Given the description of an element on the screen output the (x, y) to click on. 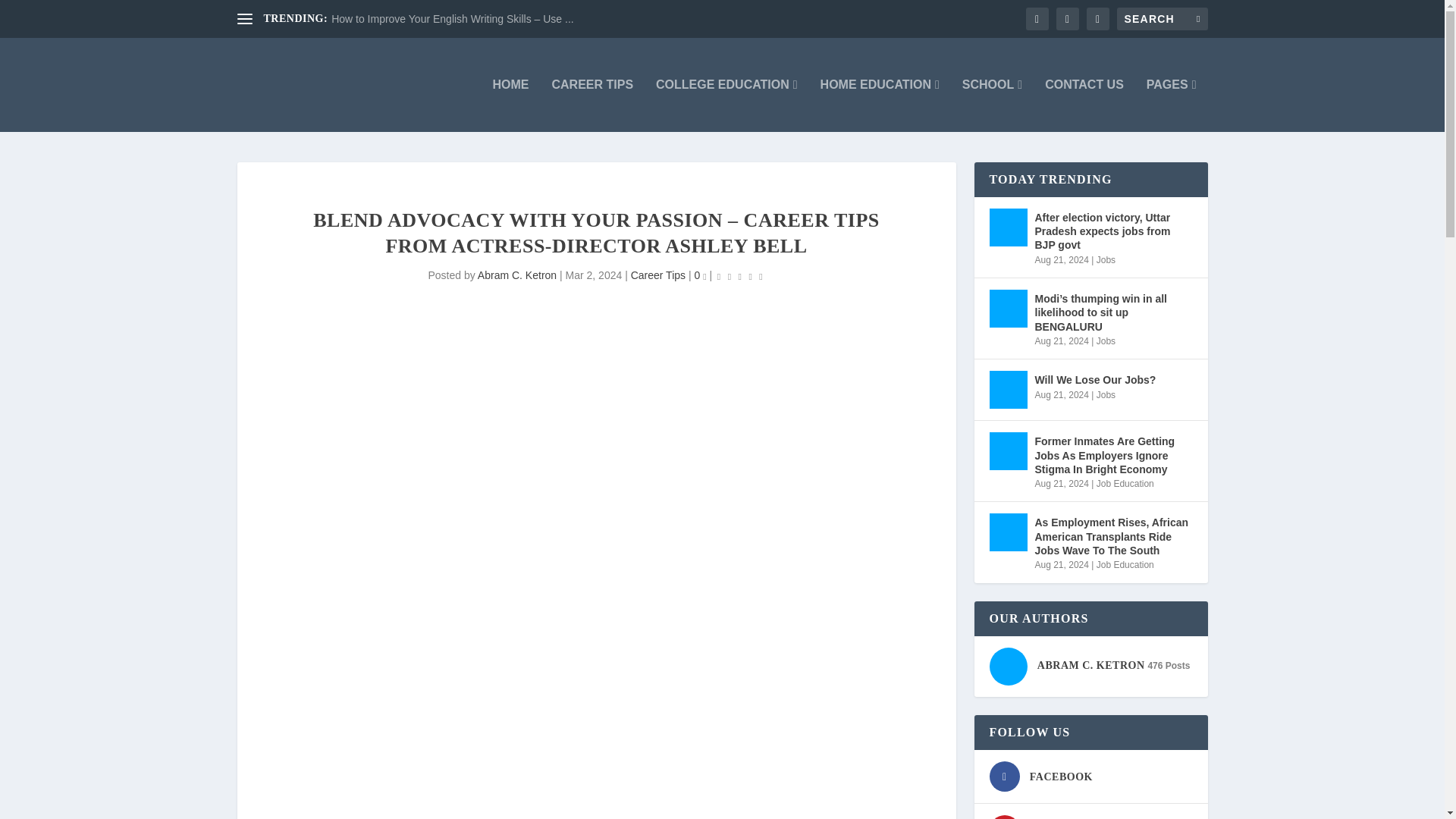
CONTACT US (1084, 104)
Career Tips (657, 275)
COLLEGE EDUCATION (726, 104)
0 (700, 275)
CAREER TIPS (592, 104)
SCHOOL (992, 104)
Search for: (1161, 18)
Abram C. Ketron (516, 275)
HOME EDUCATION (880, 104)
Rating: 0.00 (739, 275)
